Given the description of an element on the screen output the (x, y) to click on. 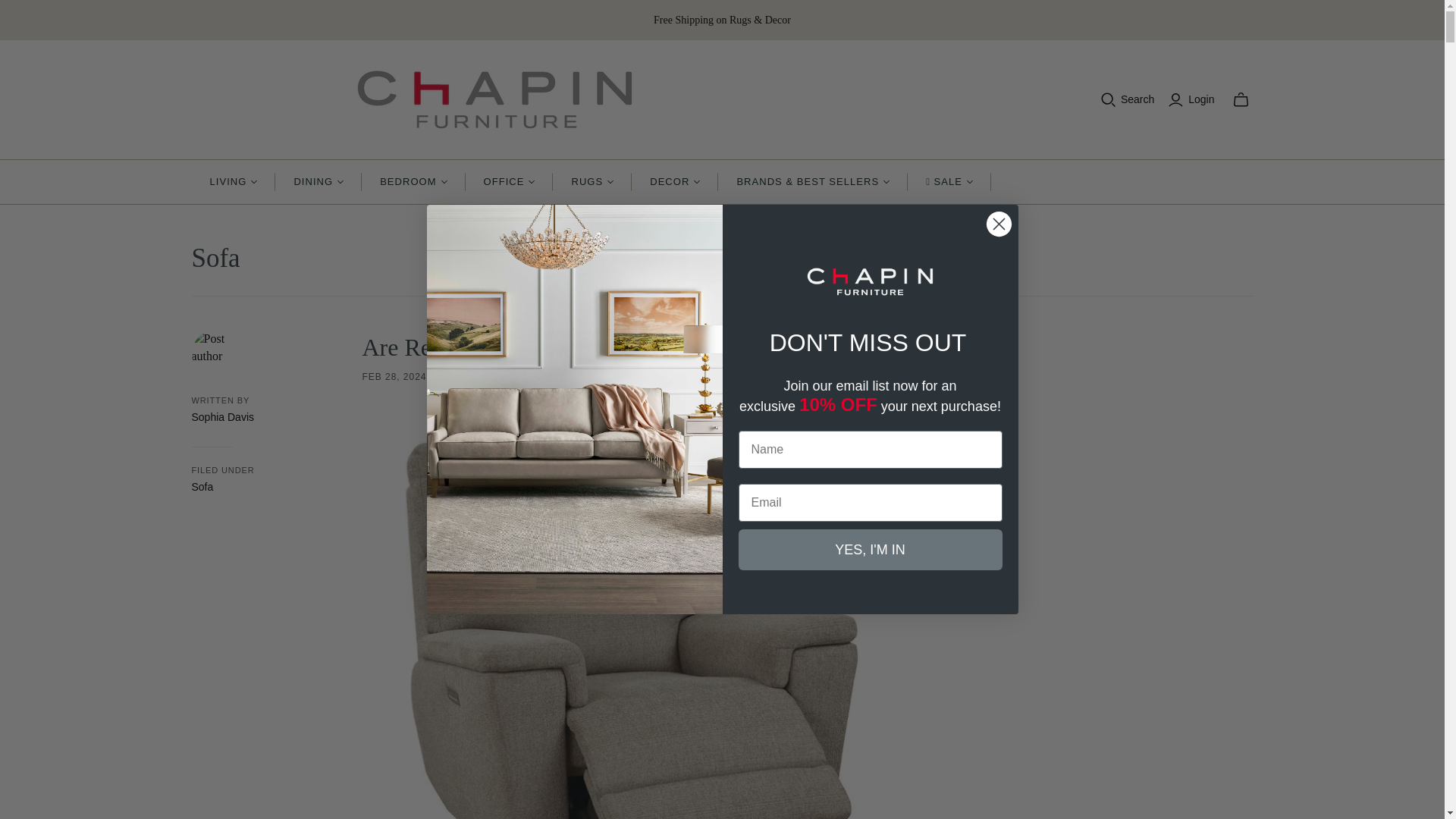
Login (1192, 98)
